Given the description of an element on the screen output the (x, y) to click on. 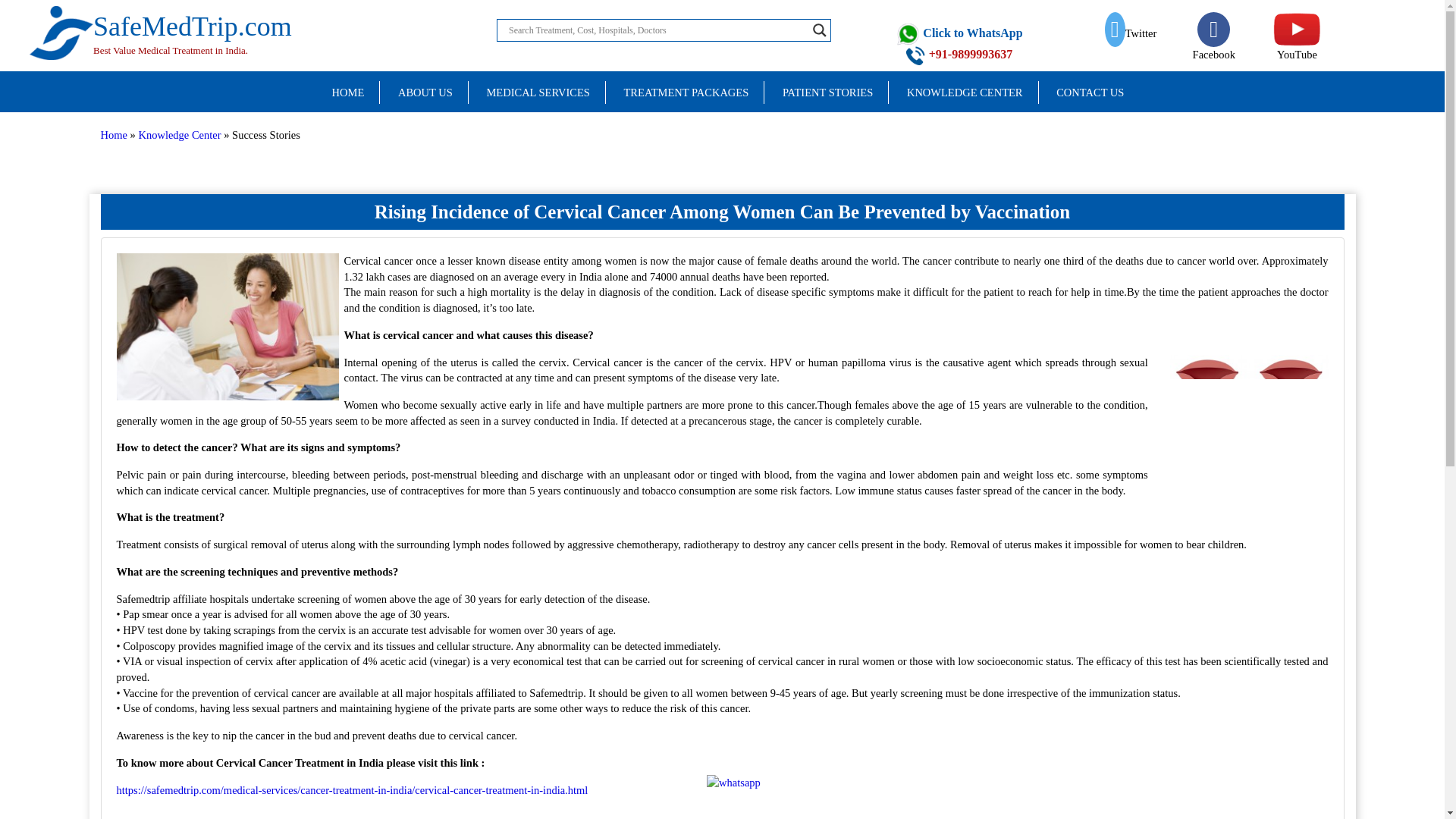
Knowledge Center (964, 92)
TREATMENT PACKAGES (160, 15)
Facebook (686, 92)
HOME (1213, 43)
doctor-and-patient (347, 92)
PATIENT STORIES (229, 326)
PATIENT STORIES (827, 92)
CONTACT US (827, 92)
Contact Us (1090, 92)
About Us (1090, 92)
Twitter (425, 92)
Home (1131, 33)
MEDICAL SERVICES (113, 134)
Treatment Packages (537, 92)
